Given the description of an element on the screen output the (x, y) to click on. 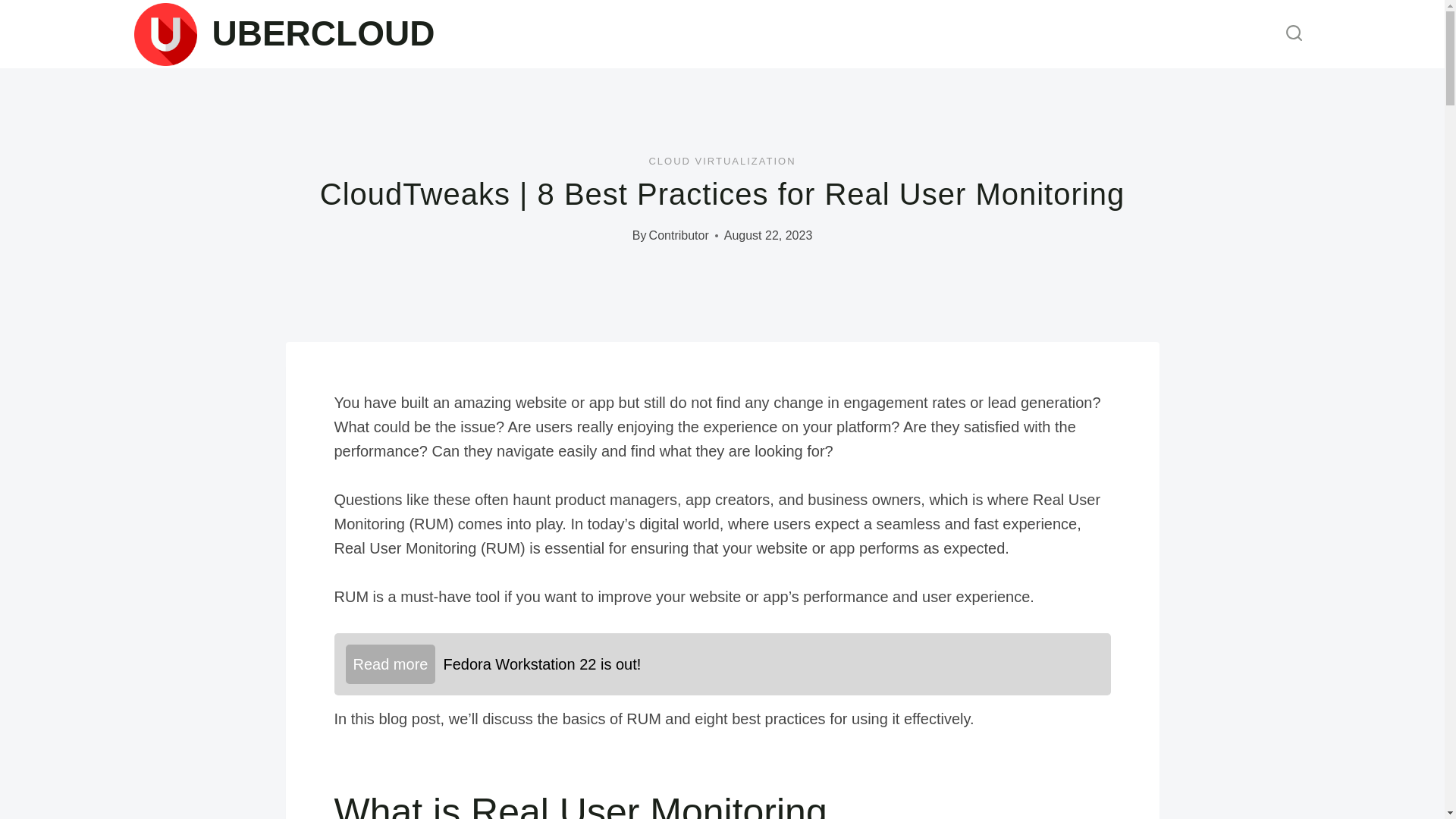
CLOUD VIRTUALIZATION (720, 161)
Read moreFedora Workstation 22 is out! (721, 664)
UBERCLOUD (283, 34)
Contributor (679, 235)
